Given the description of an element on the screen output the (x, y) to click on. 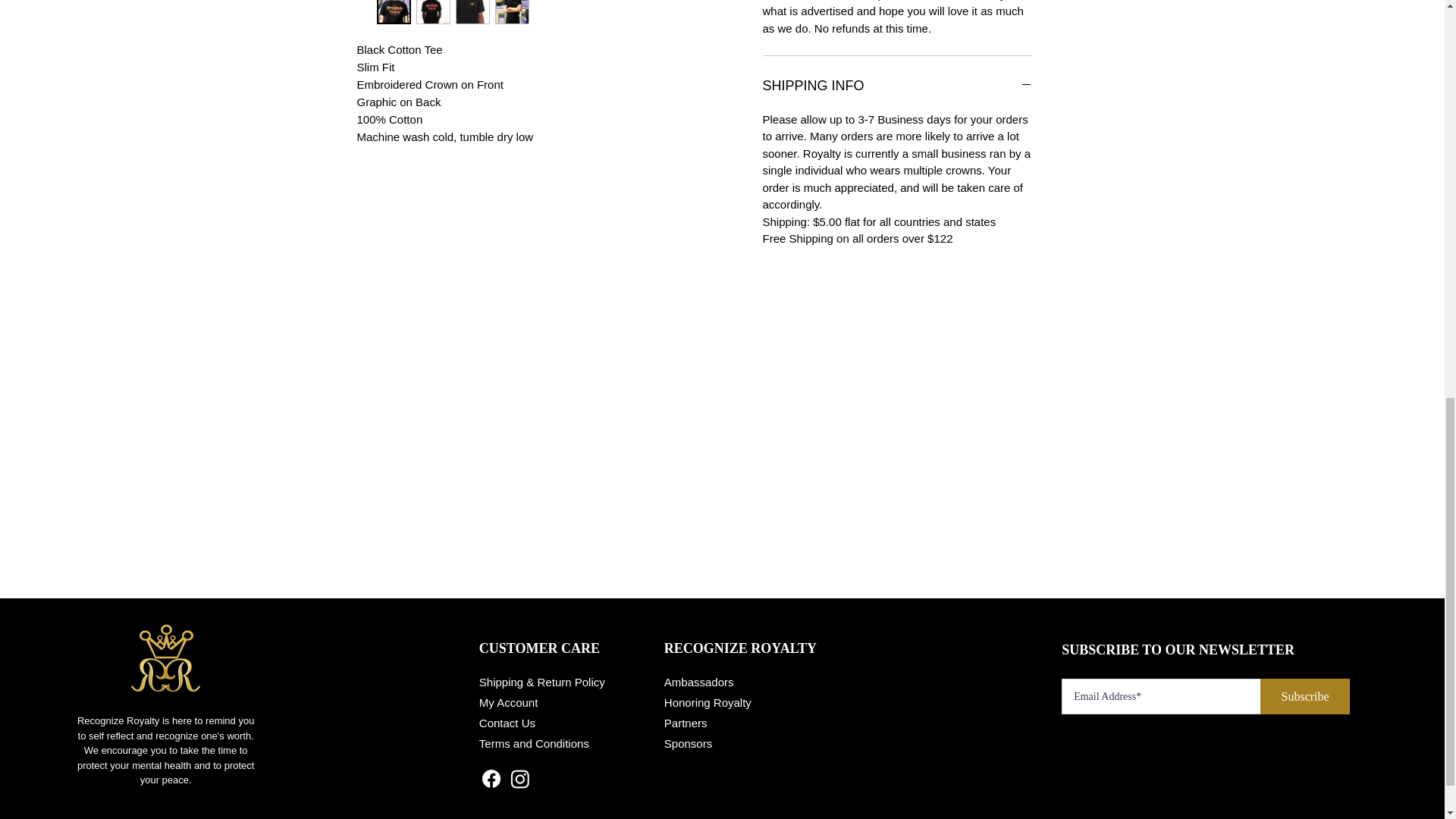
Subscribe (1304, 696)
My Account (508, 702)
Sponsors (687, 743)
Terms and Conditions (534, 743)
SHIPPING INFO (897, 86)
Contact Us (507, 722)
Ambassadors (698, 681)
Partners (685, 722)
Honoring Royalty (707, 702)
